Given the description of an element on the screen output the (x, y) to click on. 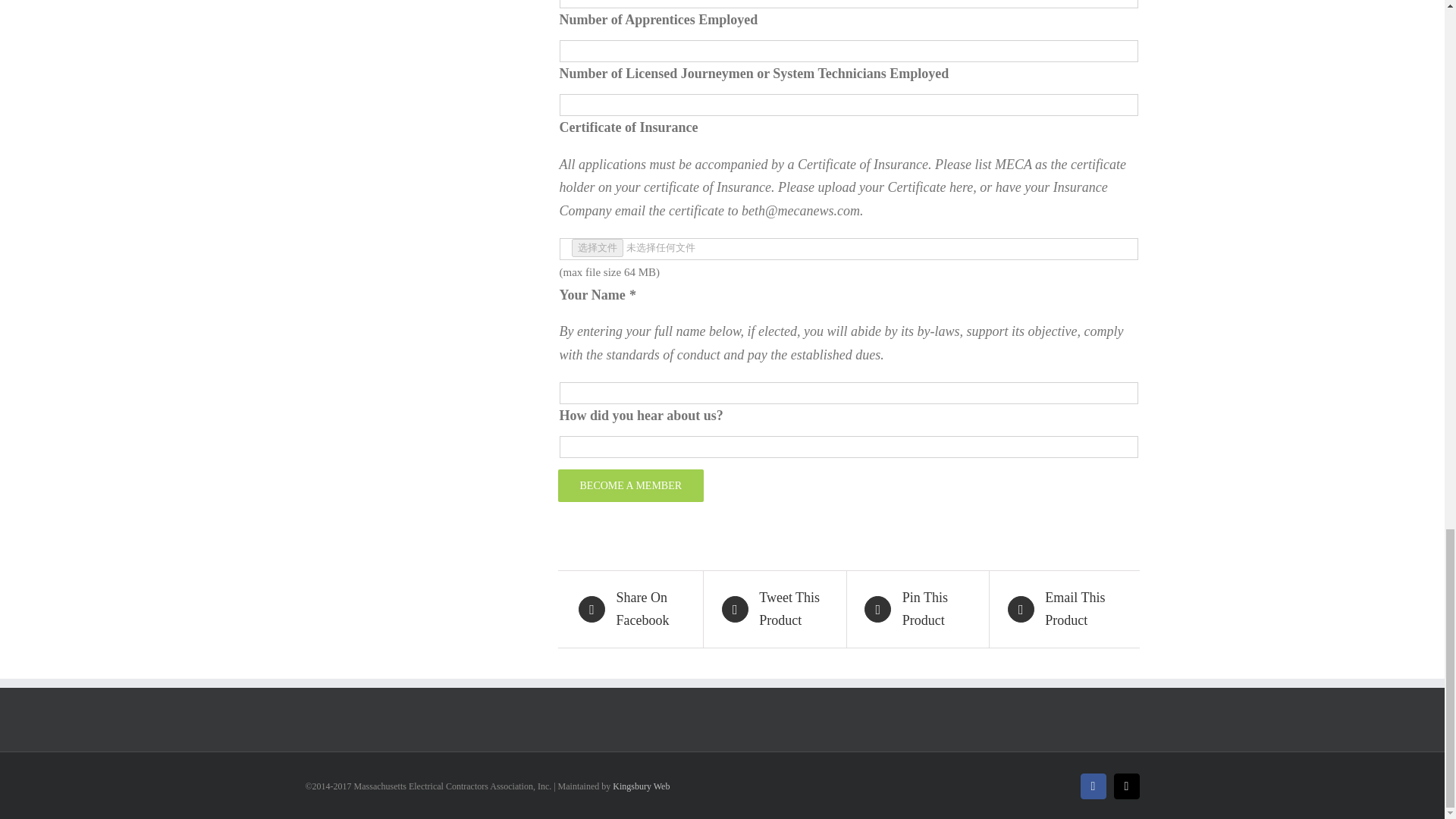
Web Design, Web Hosting, Kingsbury Web Boston (640, 786)
X (1125, 786)
Facebook (1092, 786)
